Given the description of an element on the screen output the (x, y) to click on. 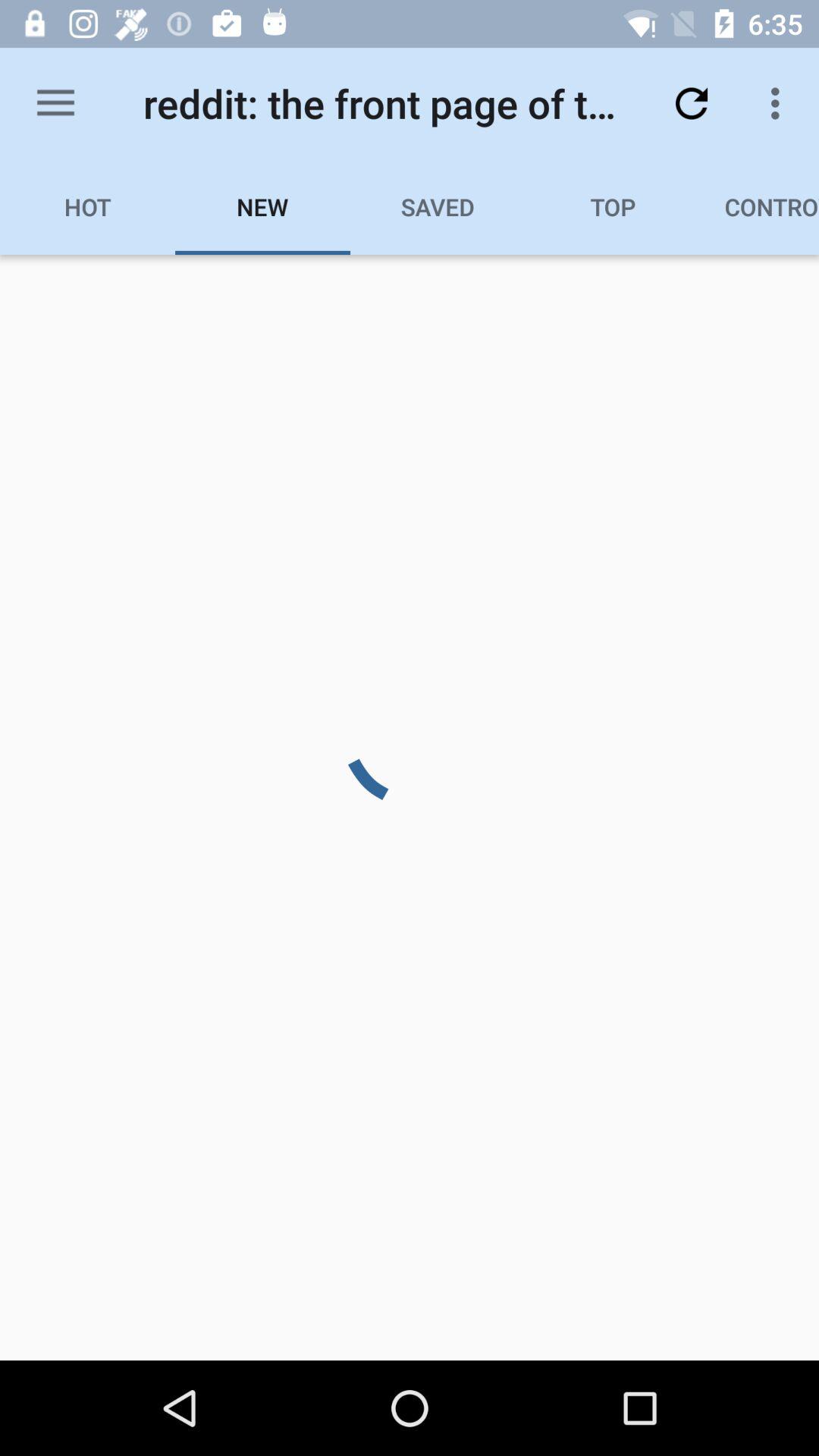
tap the item above hot (55, 103)
